Given the description of an element on the screen output the (x, y) to click on. 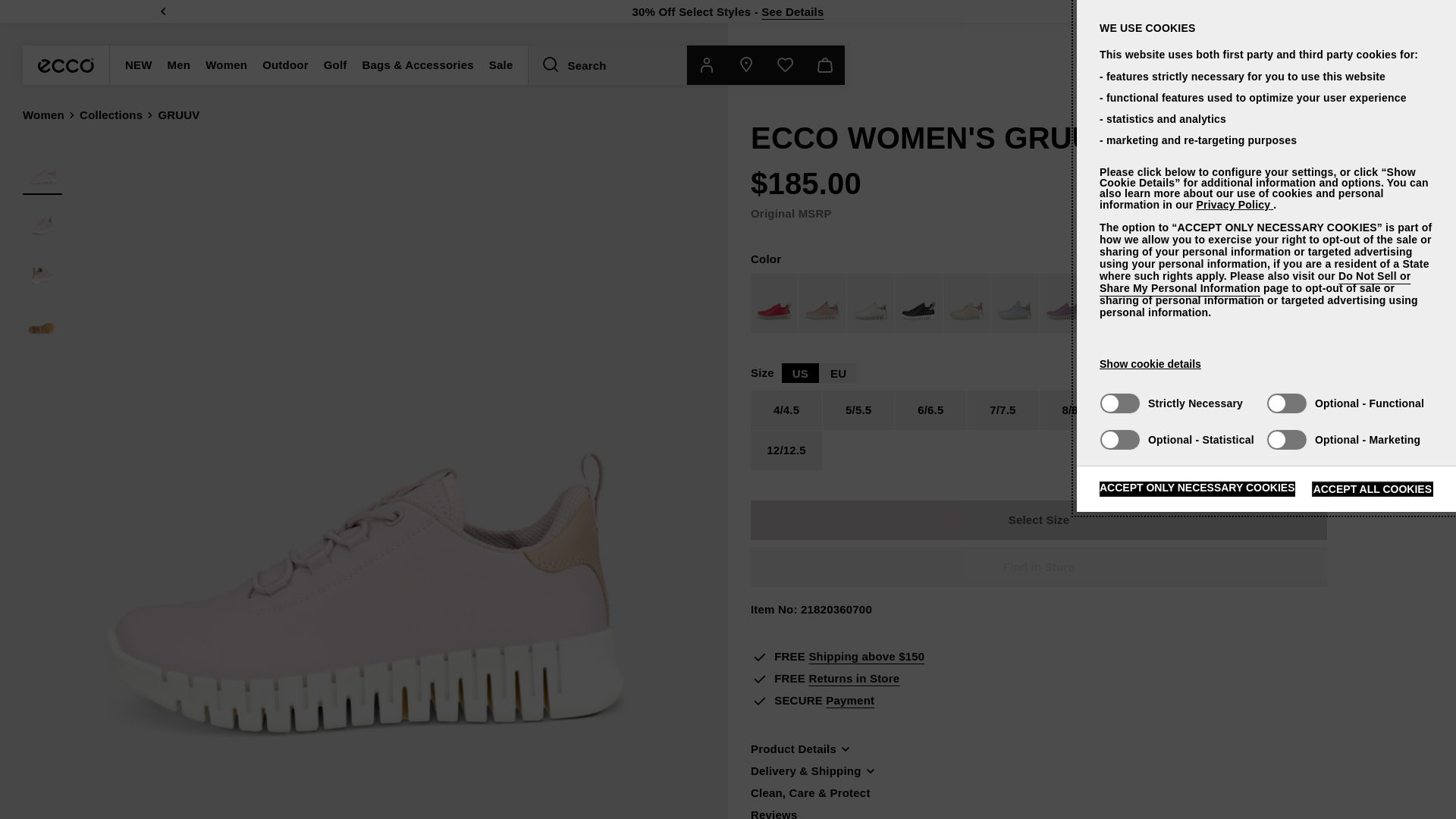
Show cookie details (1150, 363)
Do Not Sell or Share My Personal Information (1254, 282)
Privacy Policy (1233, 204)
